Given the description of an element on the screen output the (x, y) to click on. 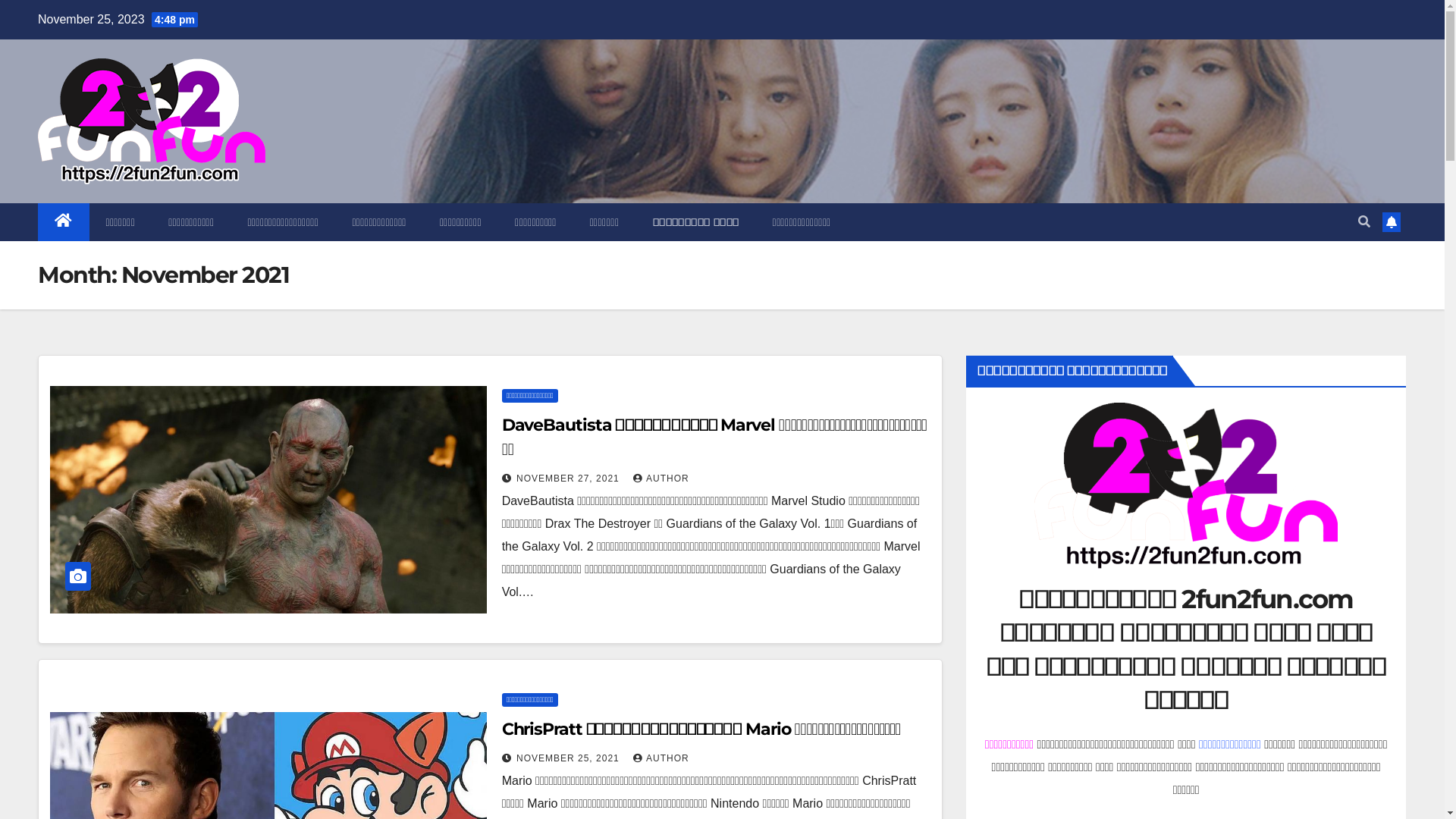
NOVEMBER 25, 2021 Element type: text (569, 758)
AUTHOR Element type: text (661, 758)
AUTHOR Element type: text (661, 478)
NOVEMBER 27, 2021 Element type: text (569, 478)
